Given the description of an element on the screen output the (x, y) to click on. 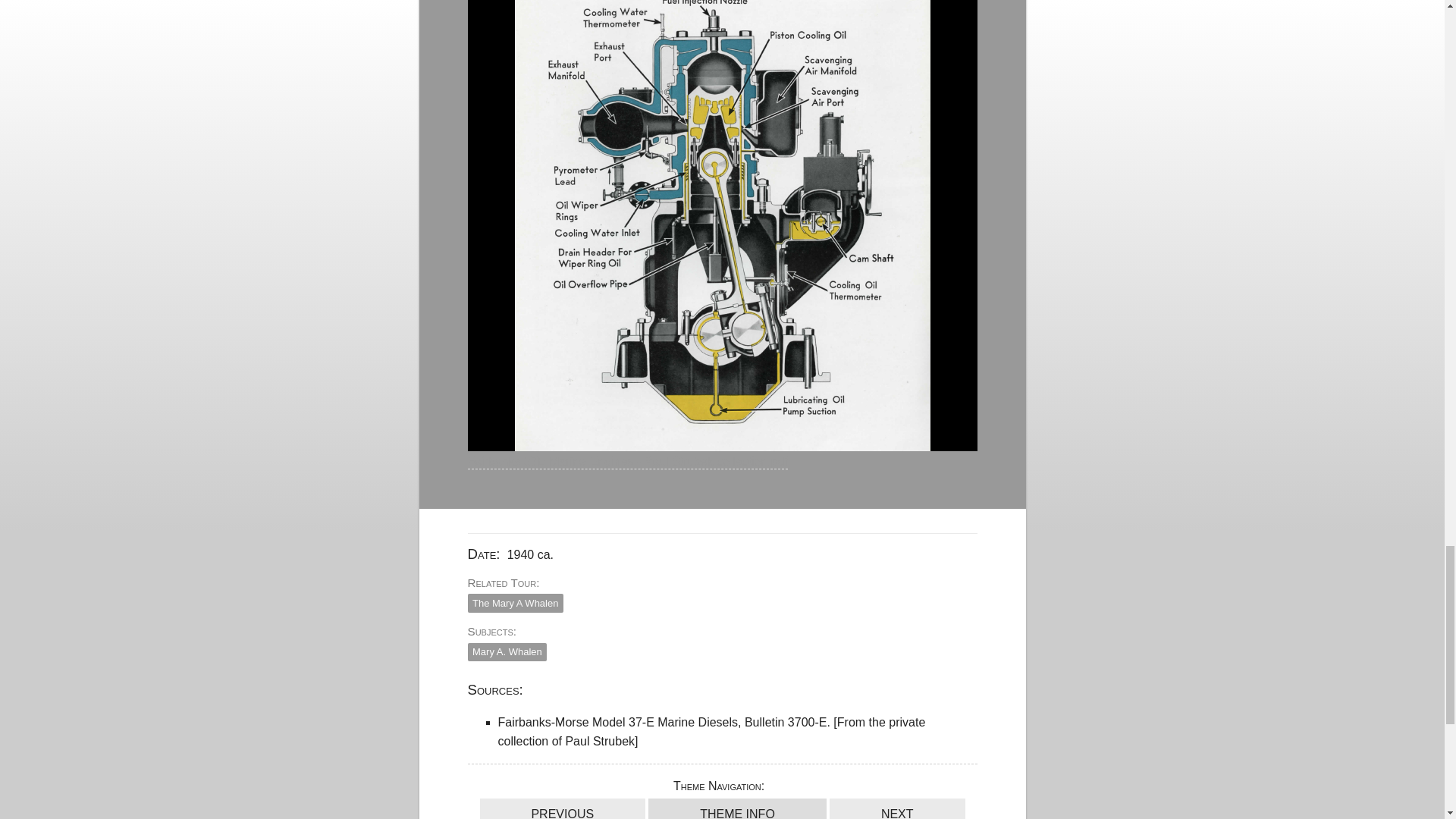
Next stop on Theme (897, 808)
View Theme: The Mary A Whalen (737, 808)
Previous stop on Theme (562, 808)
